Given the description of an element on the screen output the (x, y) to click on. 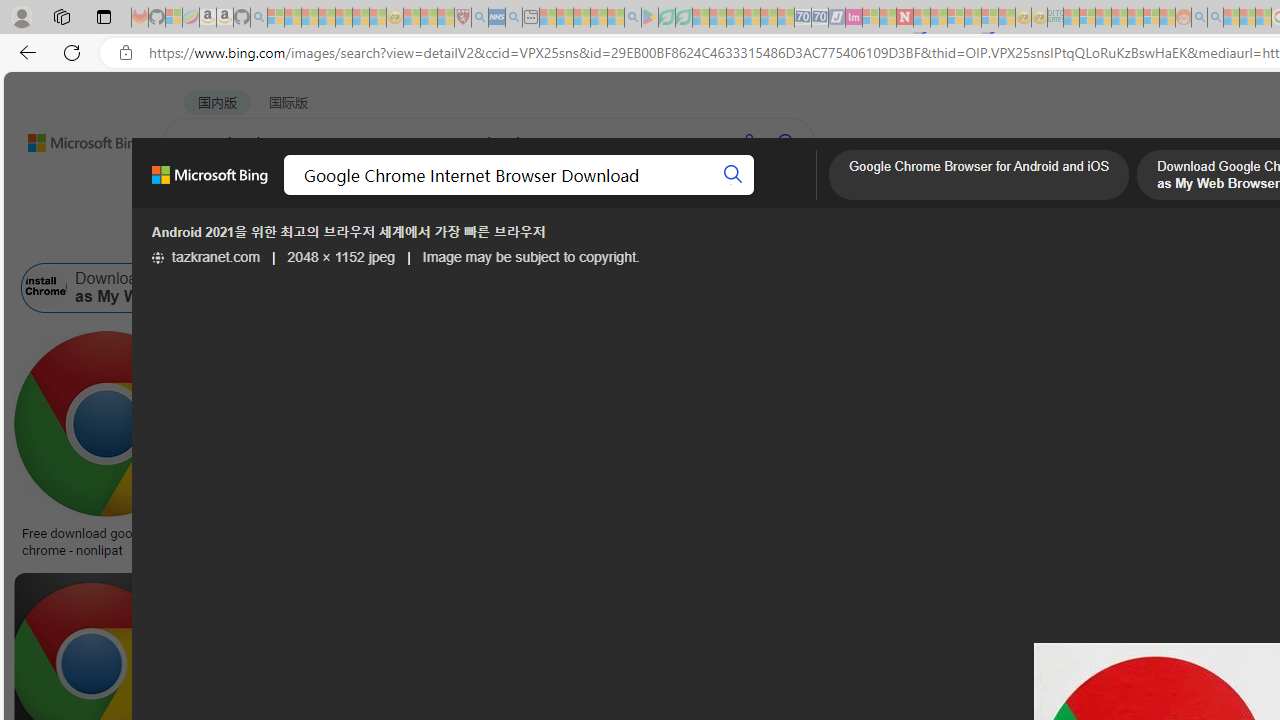
Google Chrome Website Download (317, 287)
Image size (221, 237)
Microsoft Start - Sleeping (1231, 17)
Download video online chrome - hresadishSave (335, 448)
google - Search - Sleeping (632, 17)
Dropdown Menu (793, 195)
MY BING (276, 195)
DICT (717, 195)
New tab - Sleeping (530, 17)
Robert H. Shmerling, MD - Harvard Health - Sleeping (462, 17)
utah sues federal government - Search - Sleeping (513, 17)
Download Google Chrome as My Web Browser (45, 287)
Date (591, 237)
